Given the description of an element on the screen output the (x, y) to click on. 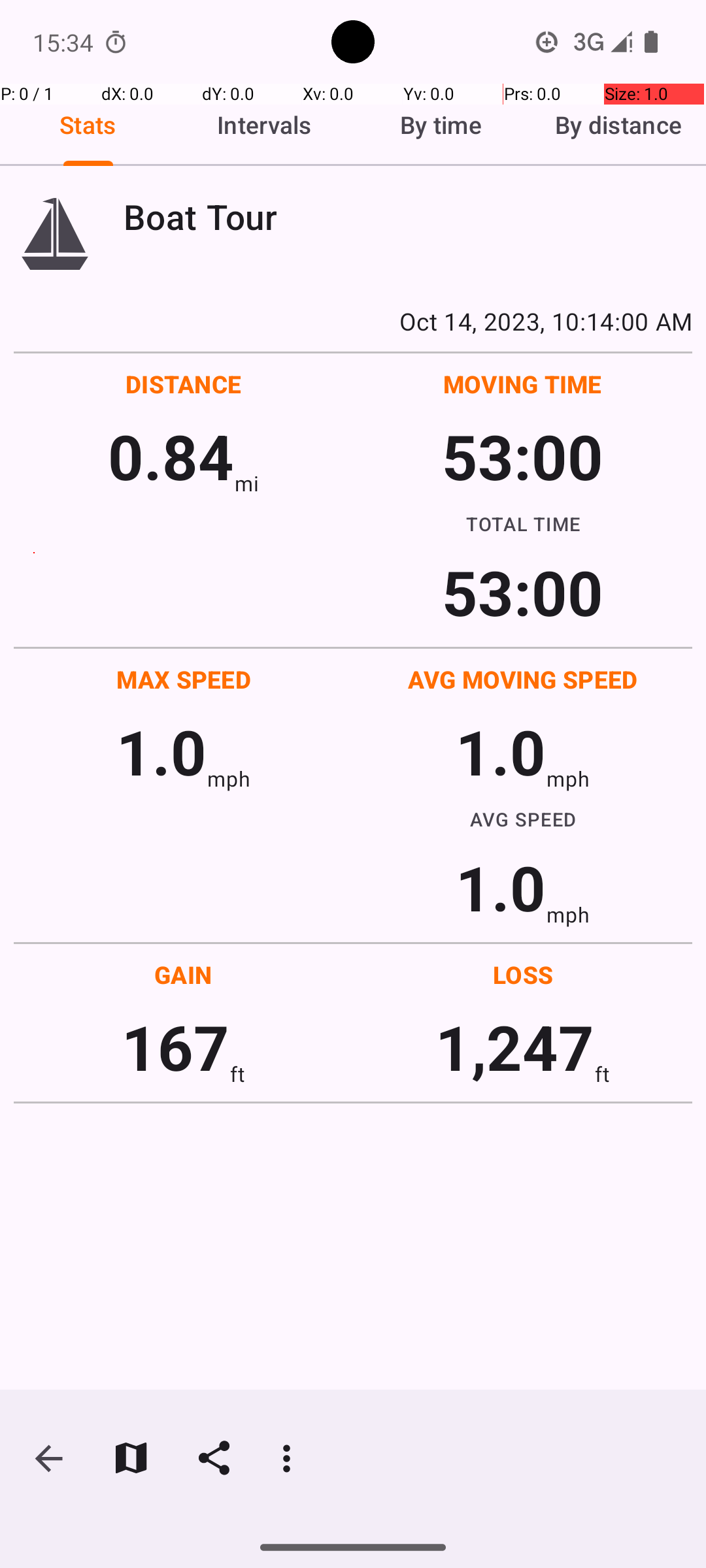
Boat Tour Element type: android.widget.TextView (407, 216)
Oct 14, 2023, 10:14:00 AM Element type: android.widget.TextView (352, 320)
0.84 Element type: android.widget.TextView (170, 455)
53:00 Element type: android.widget.TextView (522, 455)
1.0 Element type: android.widget.TextView (161, 750)
167 Element type: android.widget.TextView (175, 1045)
1,247 Element type: android.widget.TextView (514, 1045)
